Given the description of an element on the screen output the (x, y) to click on. 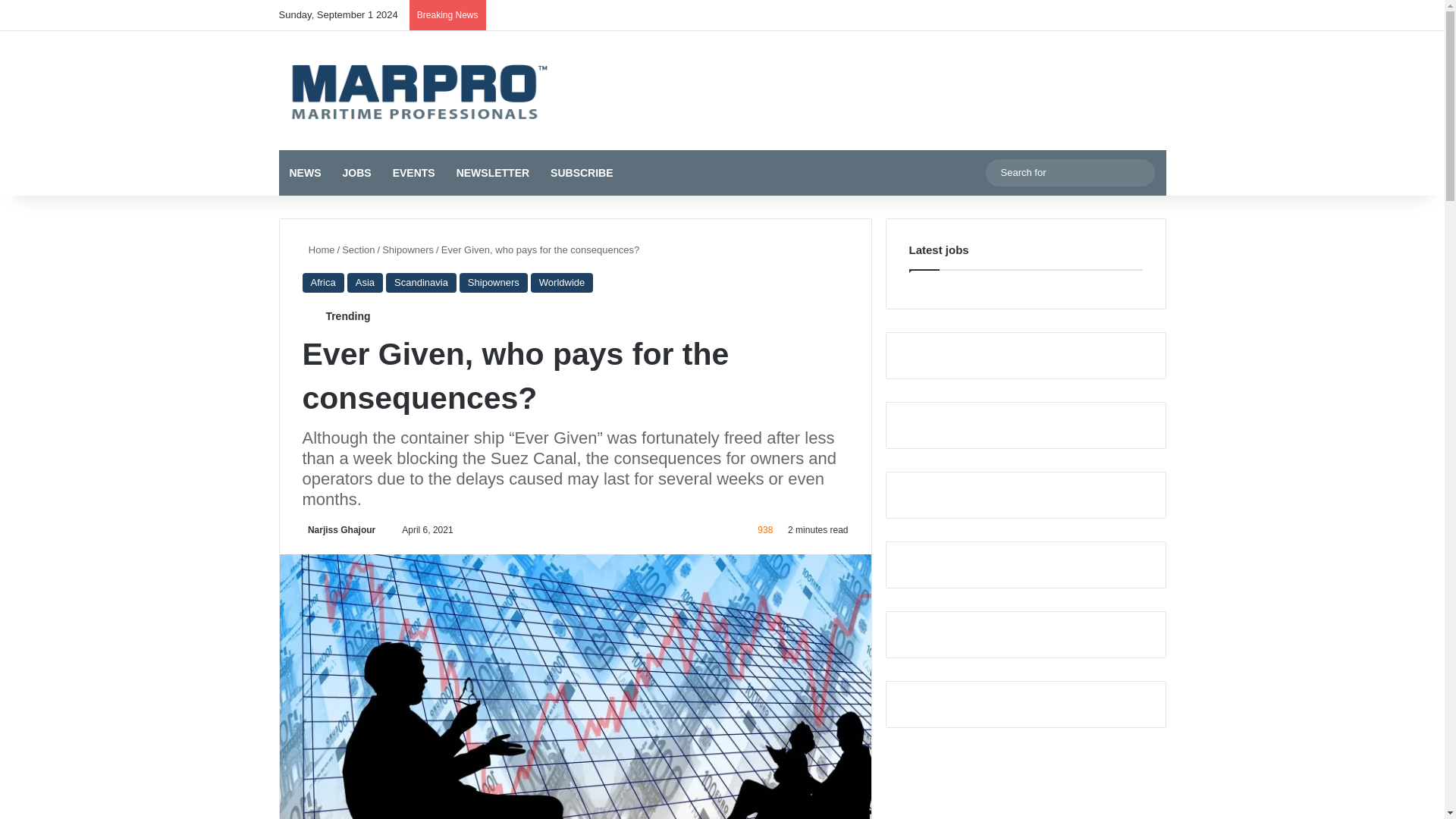
JOBS (356, 172)
Asia (364, 282)
Shipowners (493, 282)
Scandinavia (421, 282)
Section (358, 249)
SUBSCRIBE (581, 172)
Narjiss Ghajour (338, 529)
Search for (1139, 172)
NEWS (305, 172)
Worldwide (561, 282)
